Given the description of an element on the screen output the (x, y) to click on. 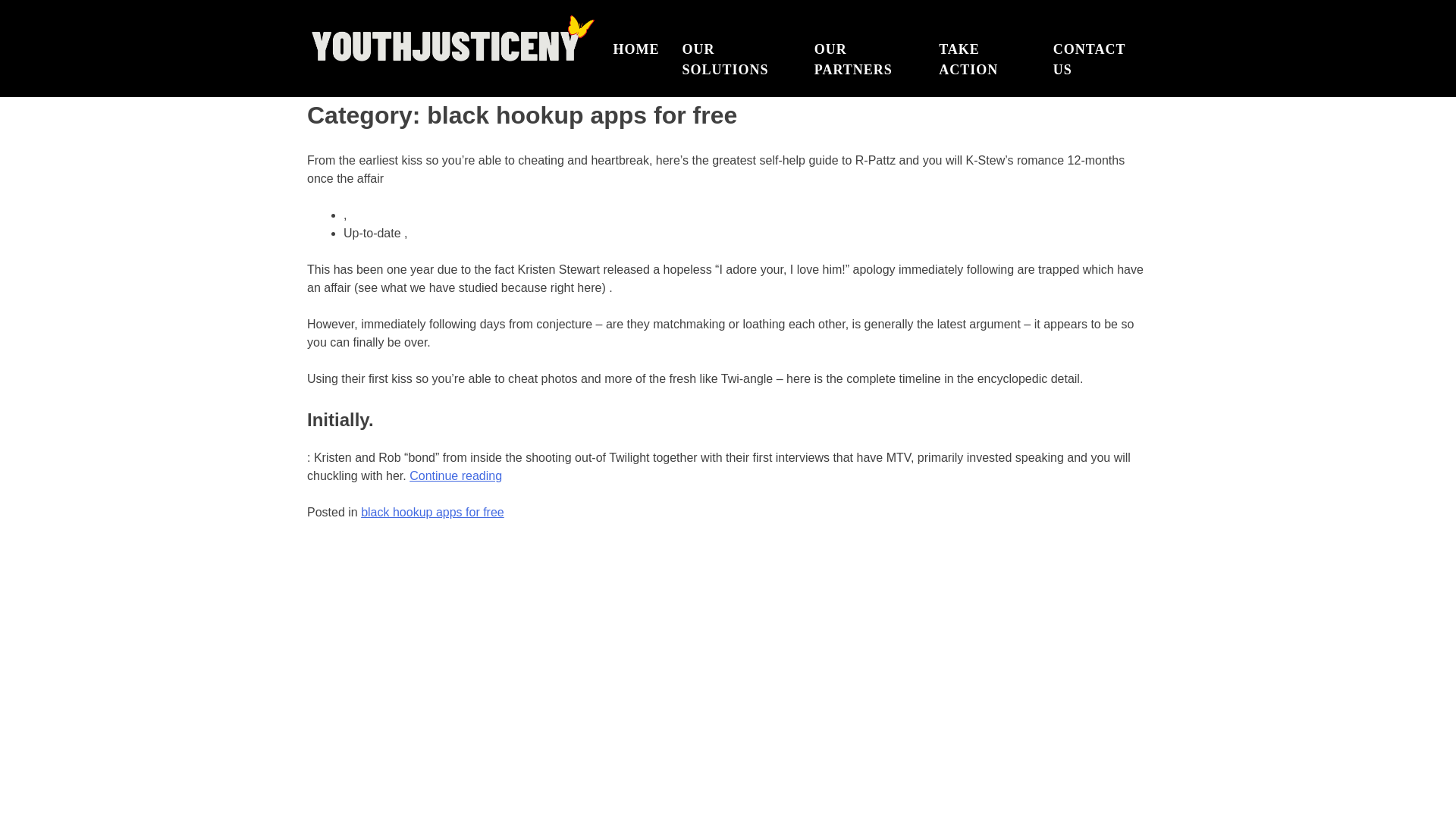
OUR SOLUTIONS (737, 59)
HOME (635, 49)
TAKE ACTION (984, 59)
CONTACT US (1094, 59)
black hookup apps for free (432, 512)
OUR PARTNERS (864, 59)
